Given the description of an element on the screen output the (x, y) to click on. 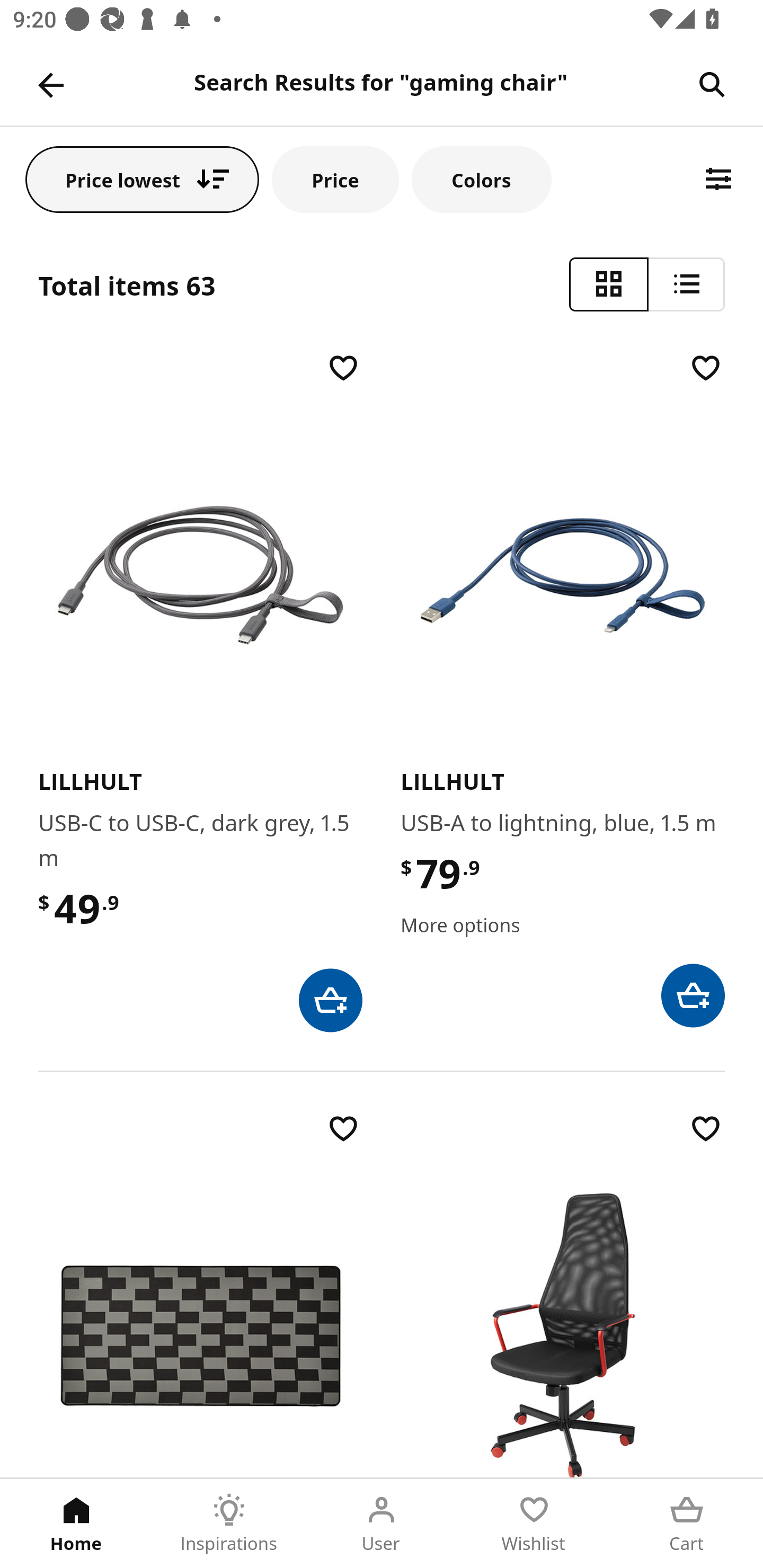
Price lowest (142, 179)
Price (335, 179)
Colors (481, 179)
Home
Tab 1 of 5 (76, 1522)
Inspirations
Tab 2 of 5 (228, 1522)
User
Tab 3 of 5 (381, 1522)
Wishlist
Tab 4 of 5 (533, 1522)
Cart
Tab 5 of 5 (686, 1522)
